Given the description of an element on the screen output the (x, y) to click on. 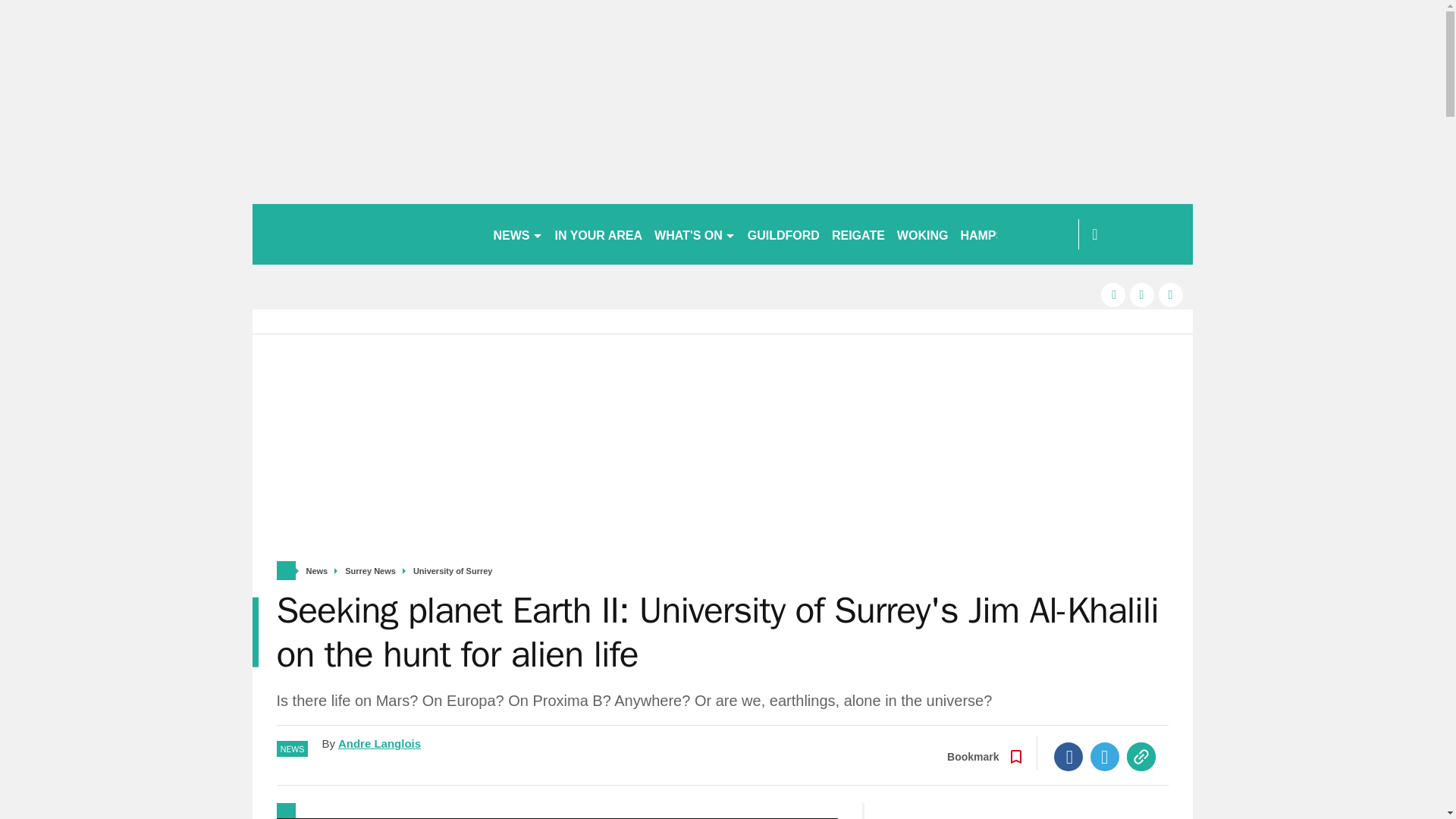
NEWS (517, 233)
WHAT'S ON (694, 233)
REIGATE (858, 233)
facebook (1112, 294)
HAMPSHIRE (996, 233)
WOKING (923, 233)
instagram (1170, 294)
Facebook (1068, 756)
Twitter (1104, 756)
IN YOUR AREA (598, 233)
